Given the description of an element on the screen output the (x, y) to click on. 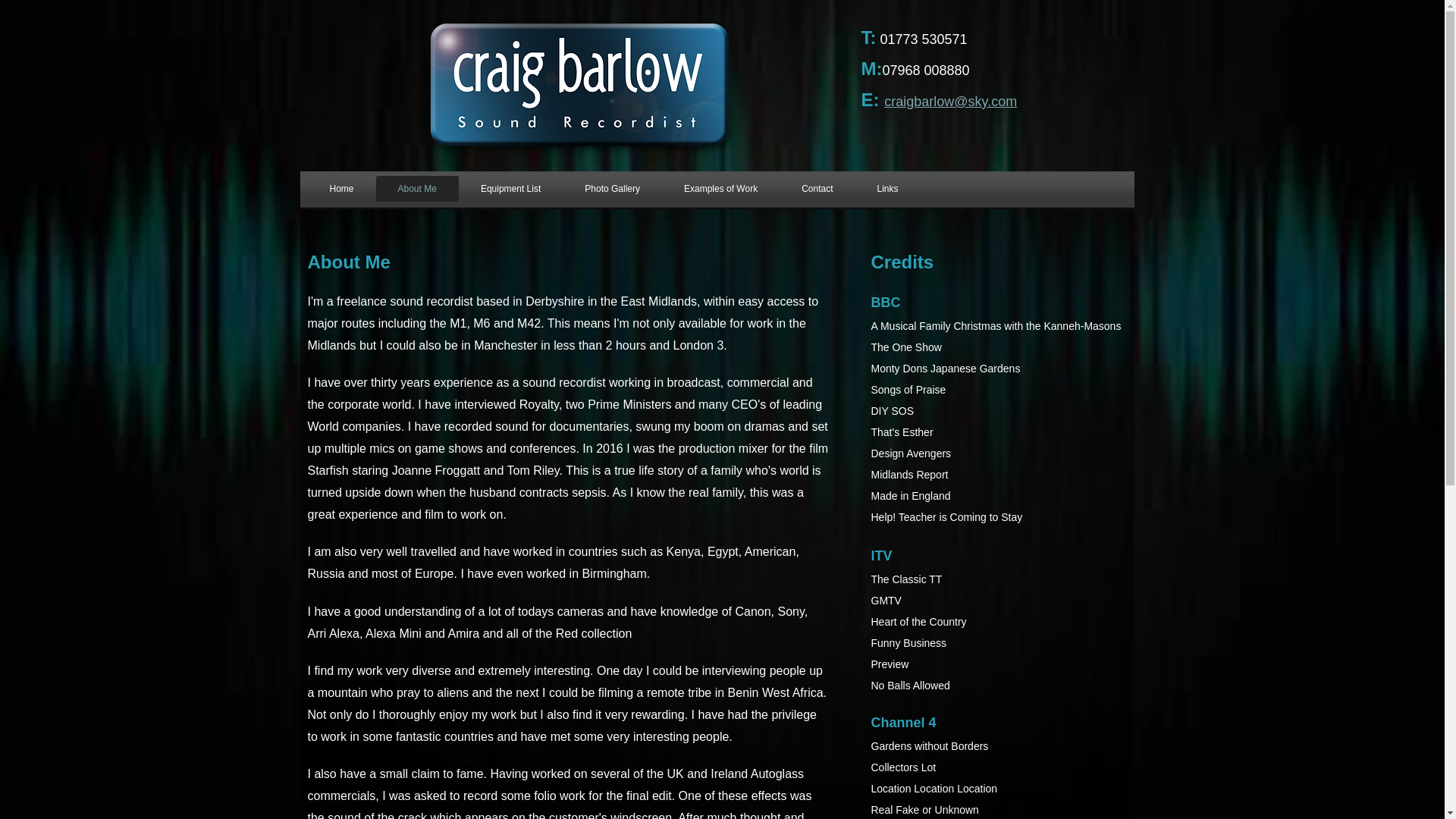
Photo Gallery (612, 188)
Home (341, 188)
About Me (416, 188)
Equipment List (510, 188)
Examples of Work (720, 188)
Links (888, 188)
Contact (816, 188)
